Given the description of an element on the screen output the (x, y) to click on. 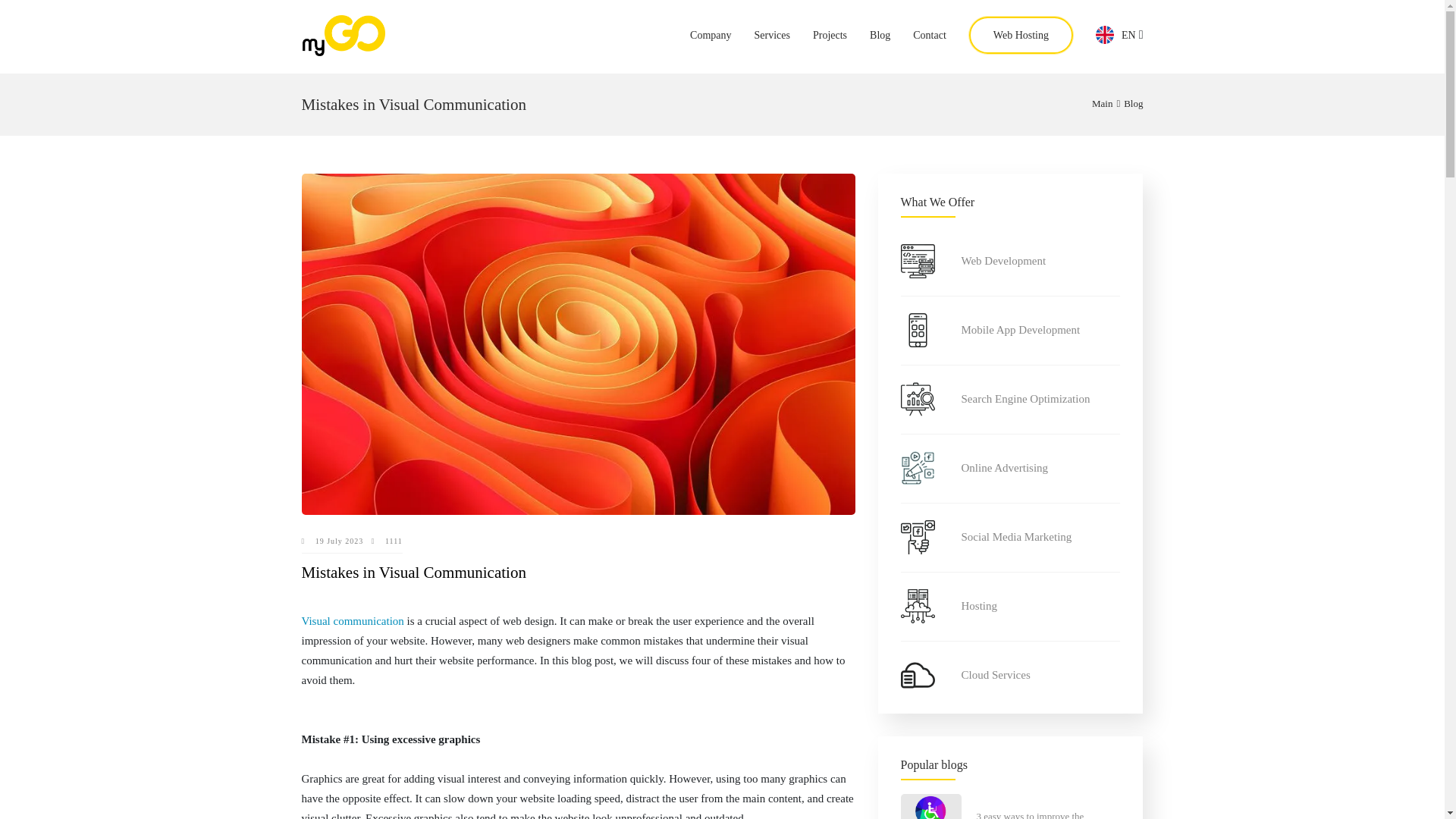
Main (1102, 103)
myGO - Custom Software Development Agency (343, 51)
Web Hosting (1021, 35)
Blog (1133, 103)
Blog (1133, 103)
Web Hosting (1021, 35)
Visual communication (352, 621)
Main (1102, 103)
Visual communication (352, 621)
